Given the description of an element on the screen output the (x, y) to click on. 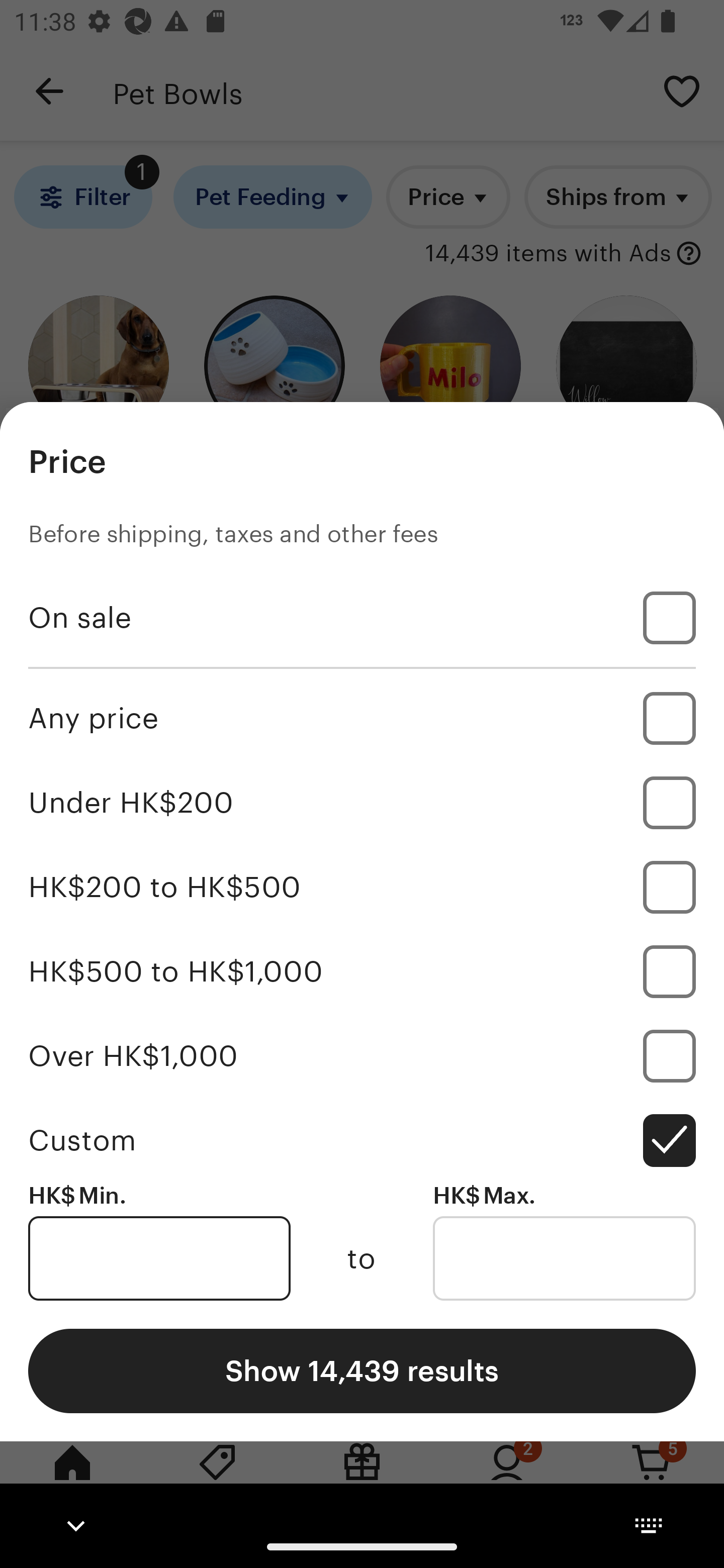
On sale (362, 617)
Any price (362, 717)
Under HK$200 (362, 802)
HK$200 to HK$500 (362, 887)
HK$500 to HK$1,000 (362, 970)
Over HK$1,000 (362, 1054)
Custom (362, 1139)
Show 14,439 results (361, 1370)
